Given the description of an element on the screen output the (x, y) to click on. 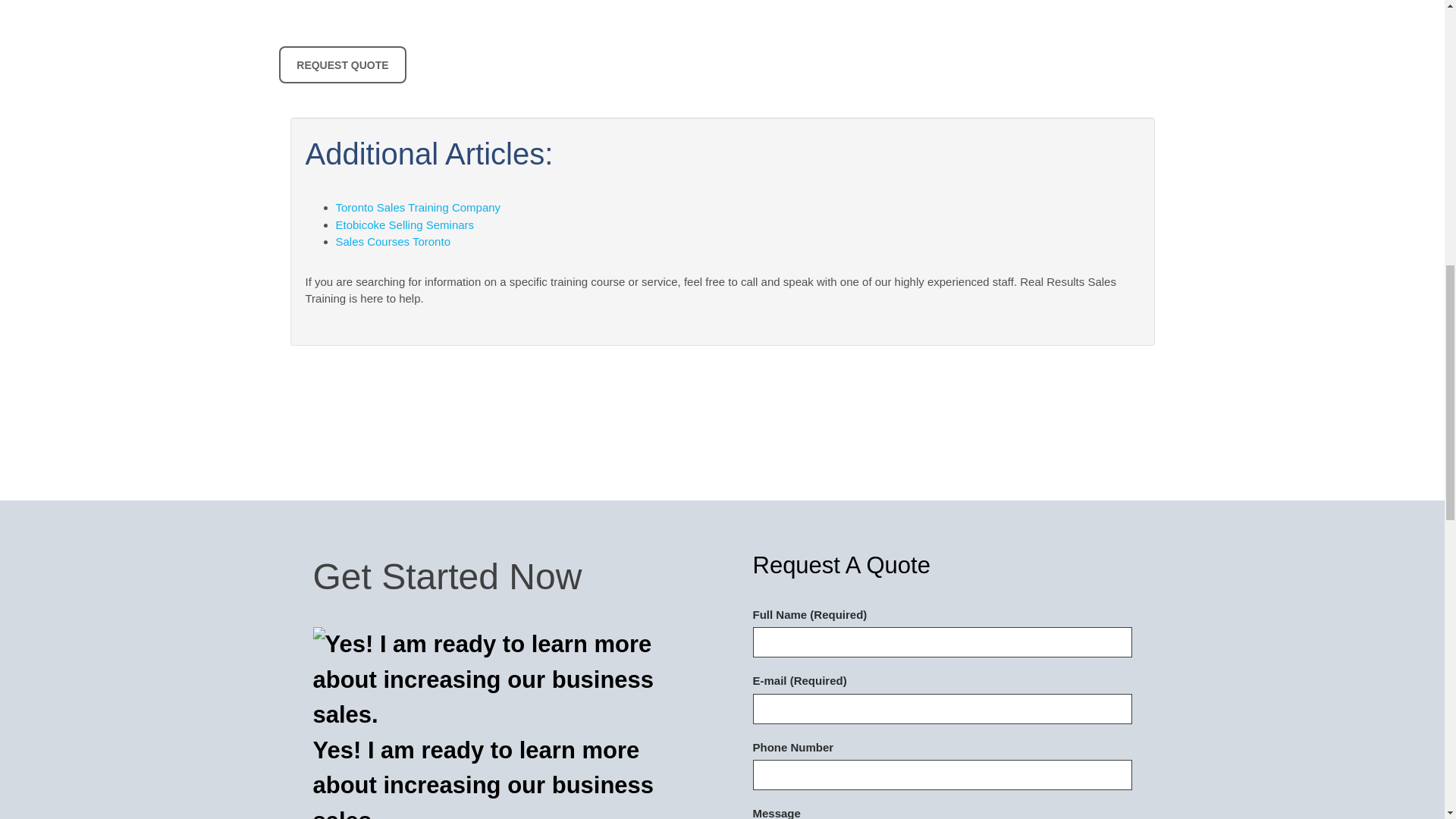
It is the best business investment you will make. (343, 64)
  REQUEST QUOTE   (343, 64)
Etobicoke Selling Seminars (404, 224)
Toronto Sales Training Company (417, 206)
Sales Courses Toronto (391, 241)
